Given the description of an element on the screen output the (x, y) to click on. 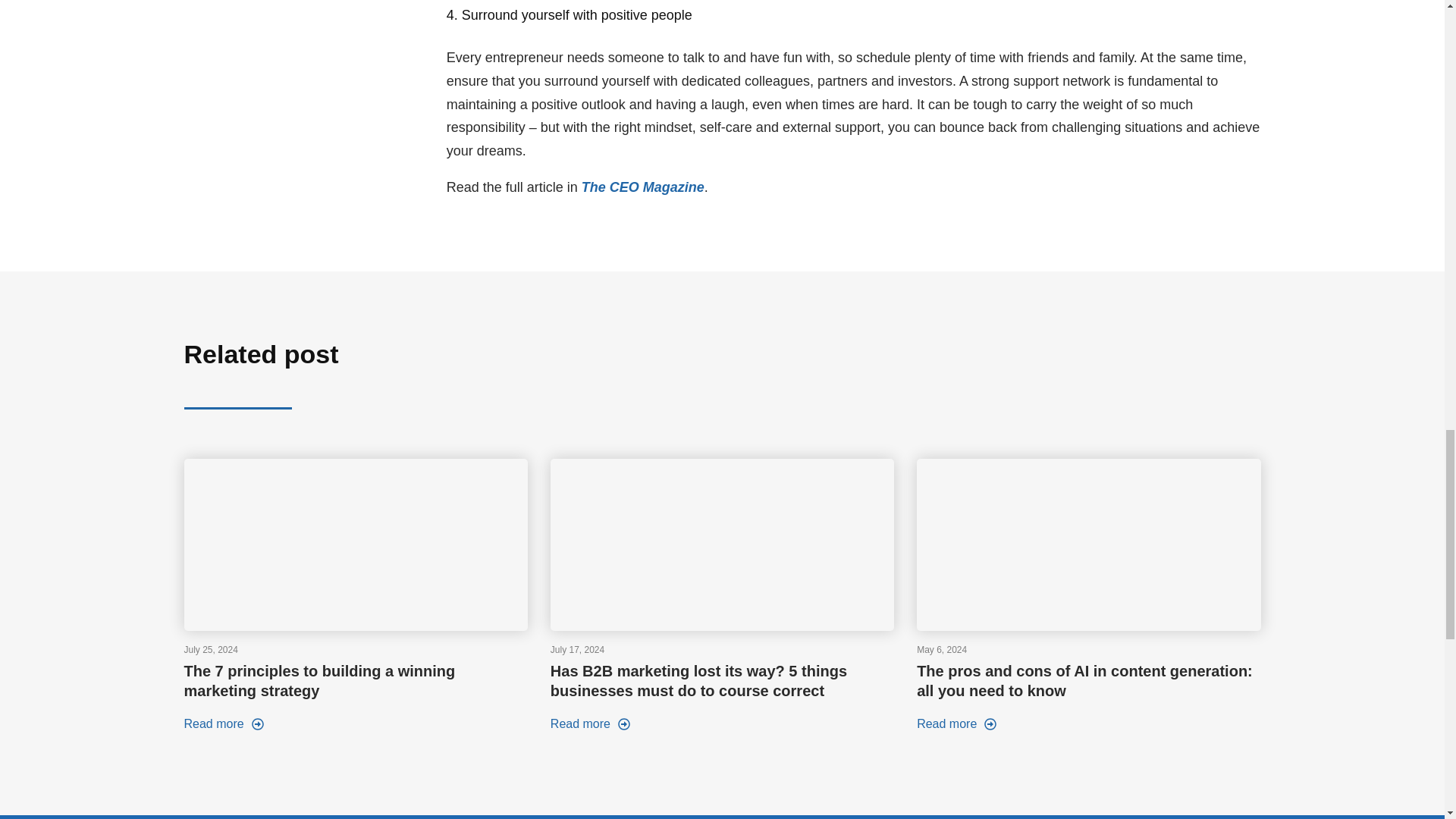
Digital tablet mockup (355, 544)
AI robot working in the office (1088, 544)
Read more (956, 725)
Read more (223, 725)
Read more (590, 725)
The CEO Magazine (642, 186)
The 7 principles to building a winning marketing strategy (318, 680)
